Given the description of an element on the screen output the (x, y) to click on. 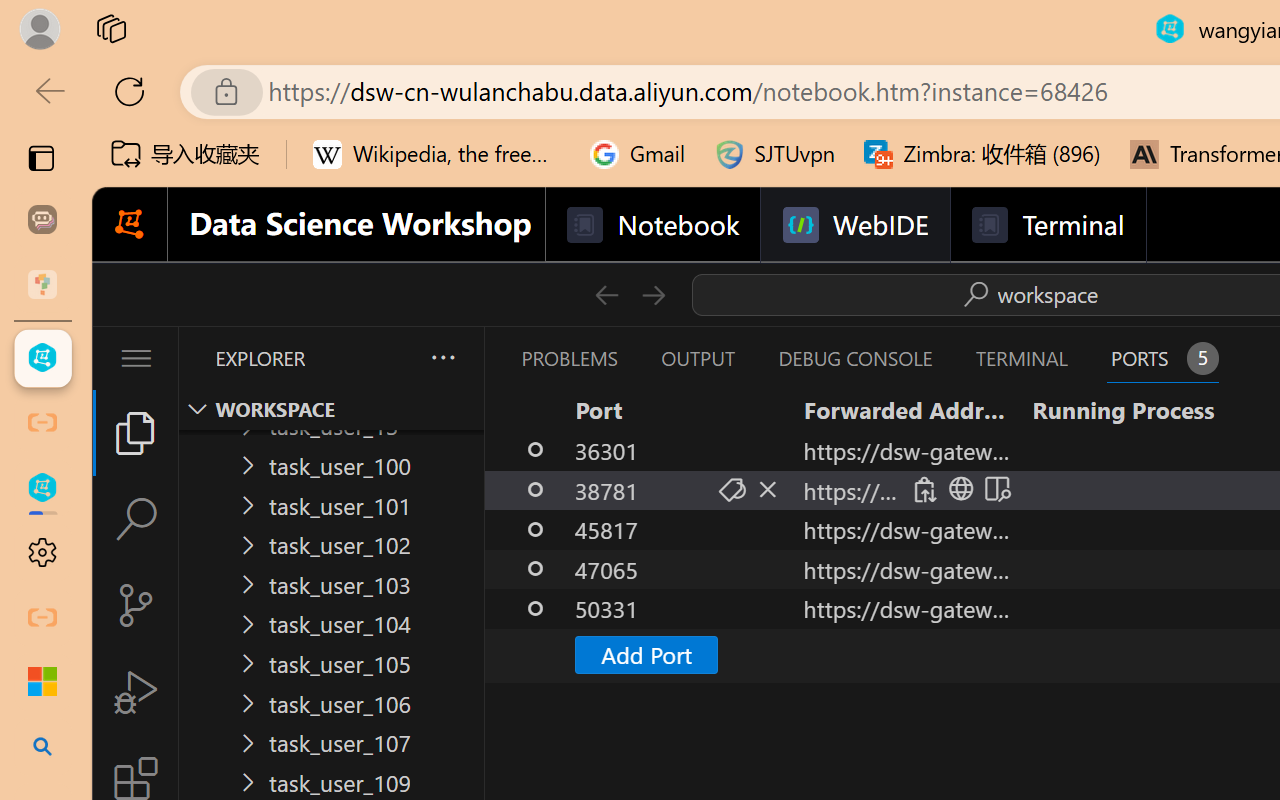
Search (Ctrl+Shift+F) (135, 519)
Copy Local Address (Ctrl+C) (923, 489)
Explorer Section: workspace (331, 409)
Class: menubar compact overflow-menu-only (135, 358)
Terminal (Ctrl+`) (1021, 358)
Views and More Actions... (442, 357)
Open in Browser (958, 489)
Debug Console (Ctrl+Shift+Y) (854, 358)
Terminal (1046, 225)
WebIDE (854, 225)
Stop Forwarding Port (Delete) (766, 489)
Run and Debug (Ctrl+Shift+D) (135, 692)
